Given the description of an element on the screen output the (x, y) to click on. 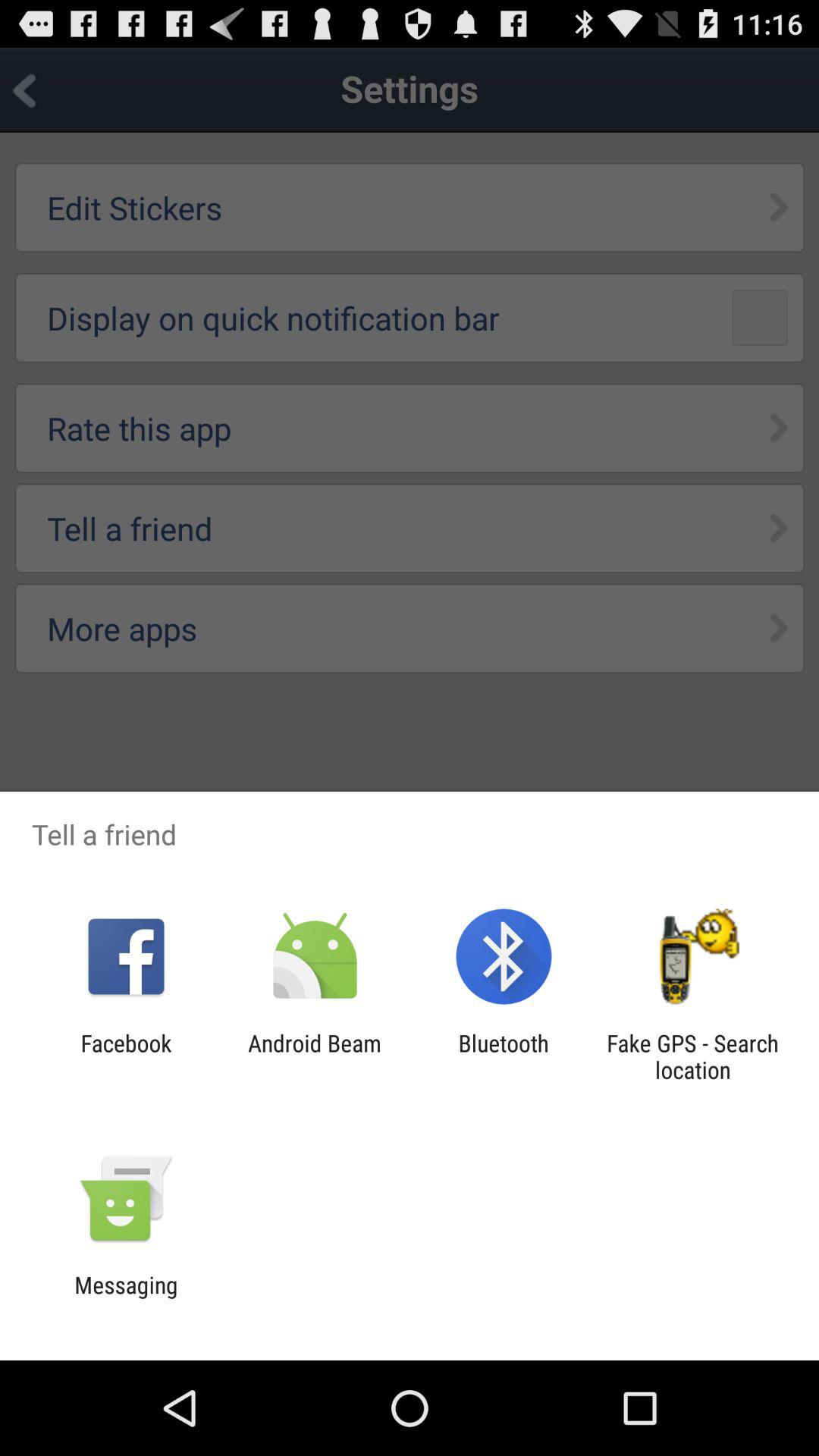
turn on the facebook app (125, 1056)
